Given the description of an element on the screen output the (x, y) to click on. 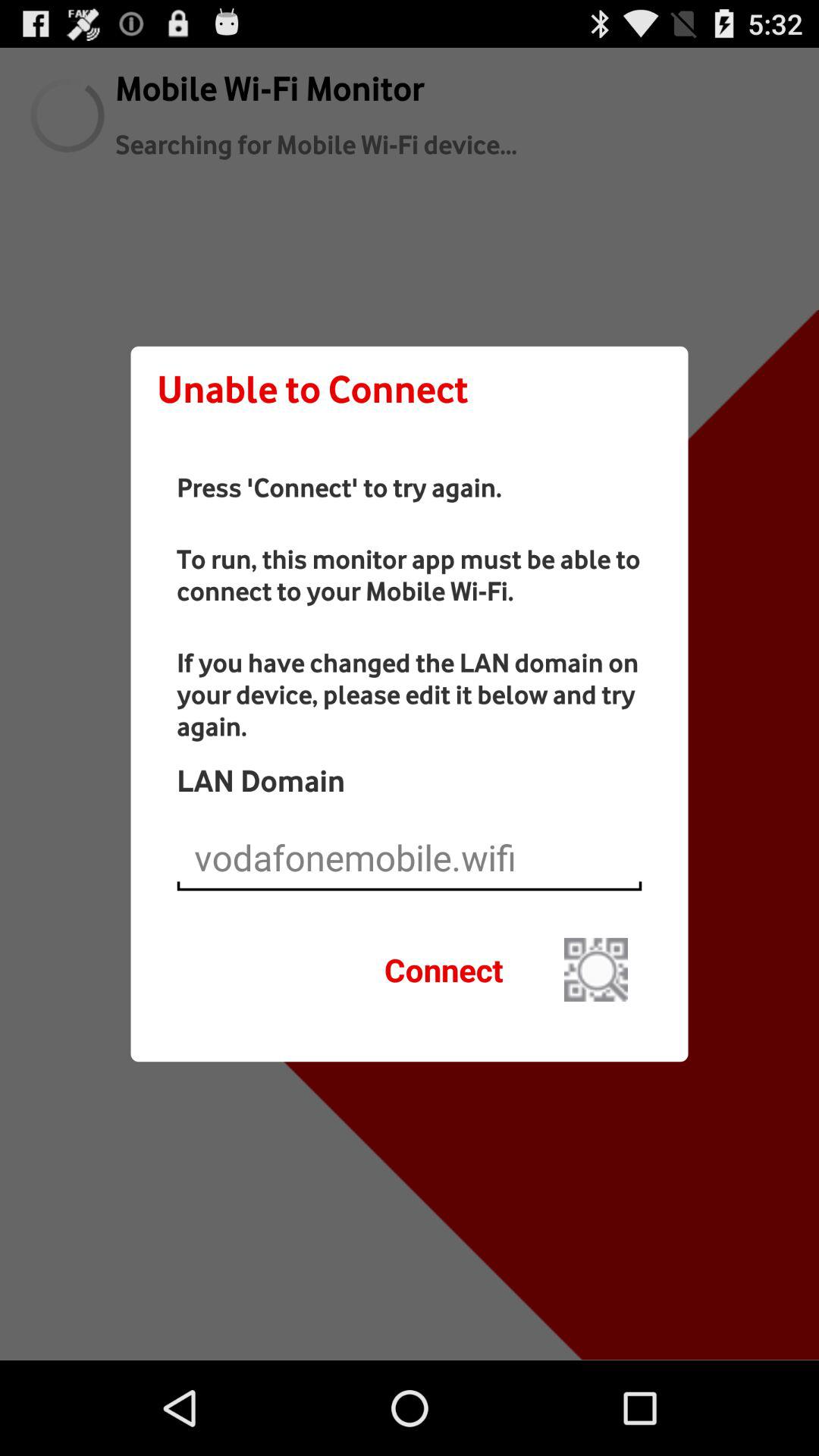
enter the current domain (409, 858)
